Given the description of an element on the screen output the (x, y) to click on. 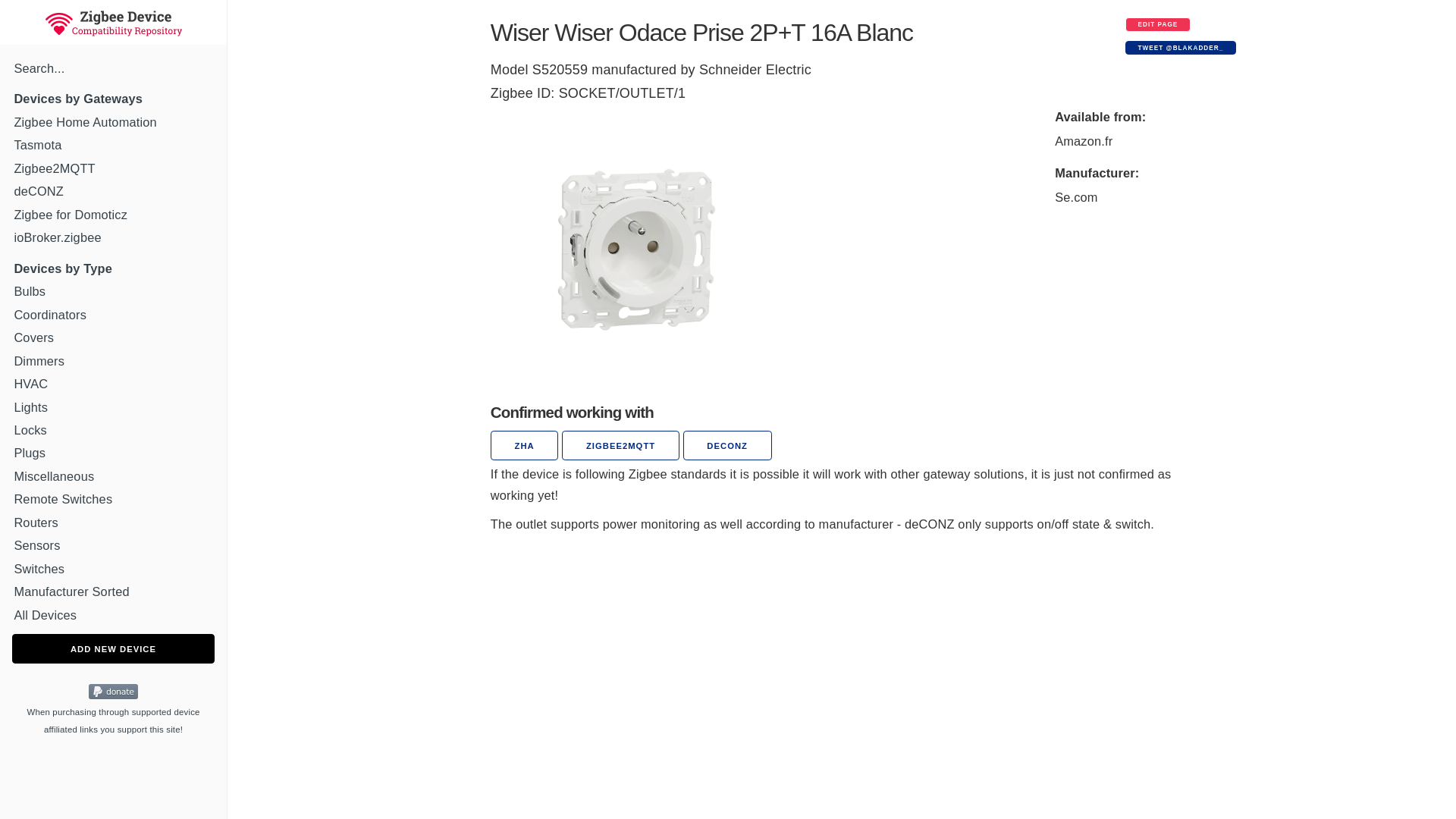
Routers (112, 522)
Tasmota (112, 144)
Amazon.fr (1083, 141)
deCONZ (112, 191)
ADD NEW DEVICE (112, 648)
Lights (112, 406)
Locks (112, 429)
Remote Switches (112, 498)
Plugs (112, 452)
Zigbee Home Automation (112, 121)
ioBroker.zigbee (112, 237)
Zigbee2MQTT (112, 168)
Zigbee for Domoticz (112, 214)
DECONZ (726, 445)
Manufacturer Sorted (112, 590)
